Given the description of an element on the screen output the (x, y) to click on. 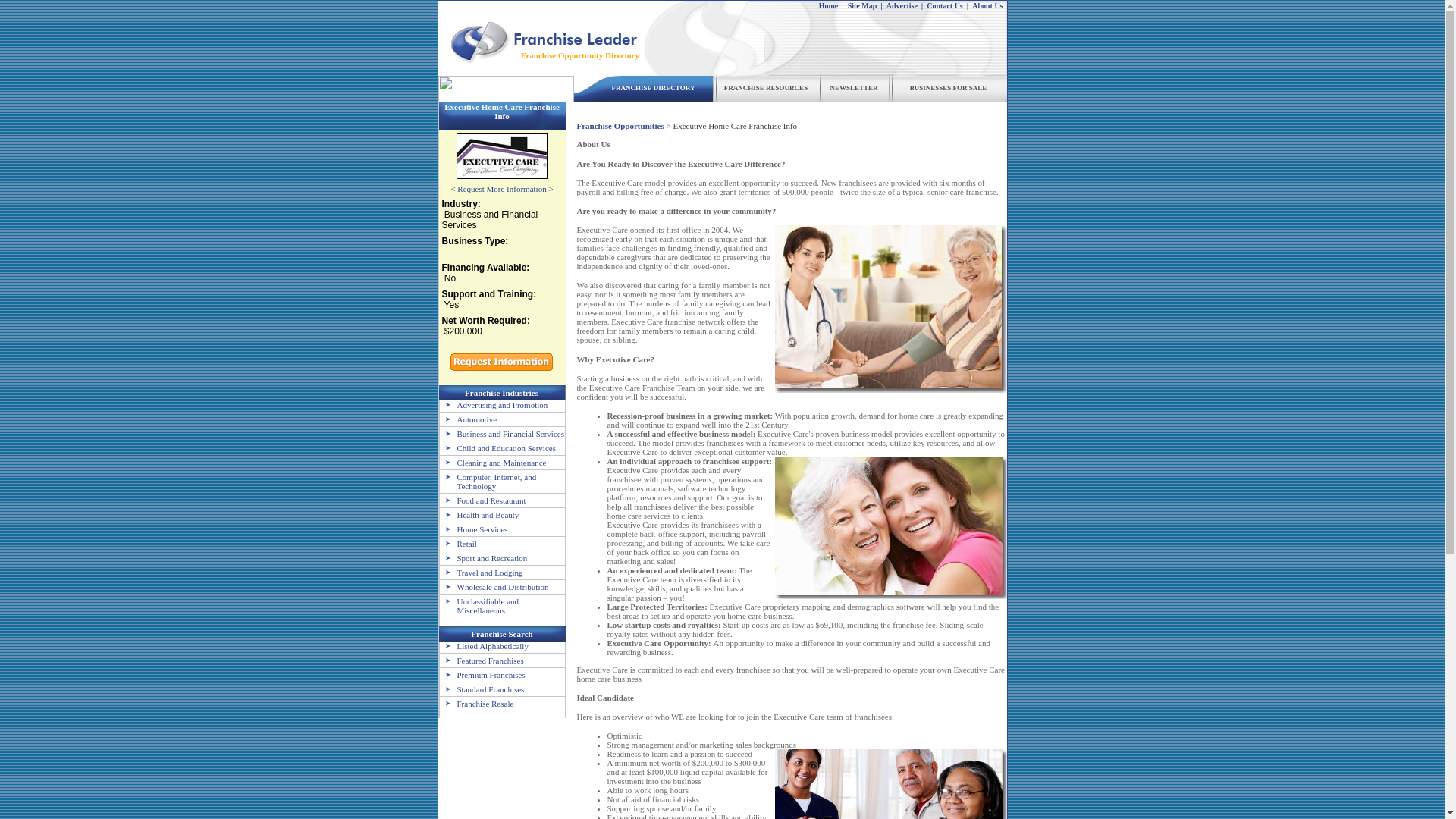
Franchise Opportunity Directory (580, 54)
Home (828, 5)
Retail (458, 542)
NEWSLETTER (853, 87)
Computer, Internet, and Technology (488, 481)
FRANCHISE RESOURCES (765, 87)
Travel and Lodging (480, 572)
Food and Restaurant (482, 500)
About Us (987, 5)
Sport and Recreation (483, 557)
